Given the description of an element on the screen output the (x, y) to click on. 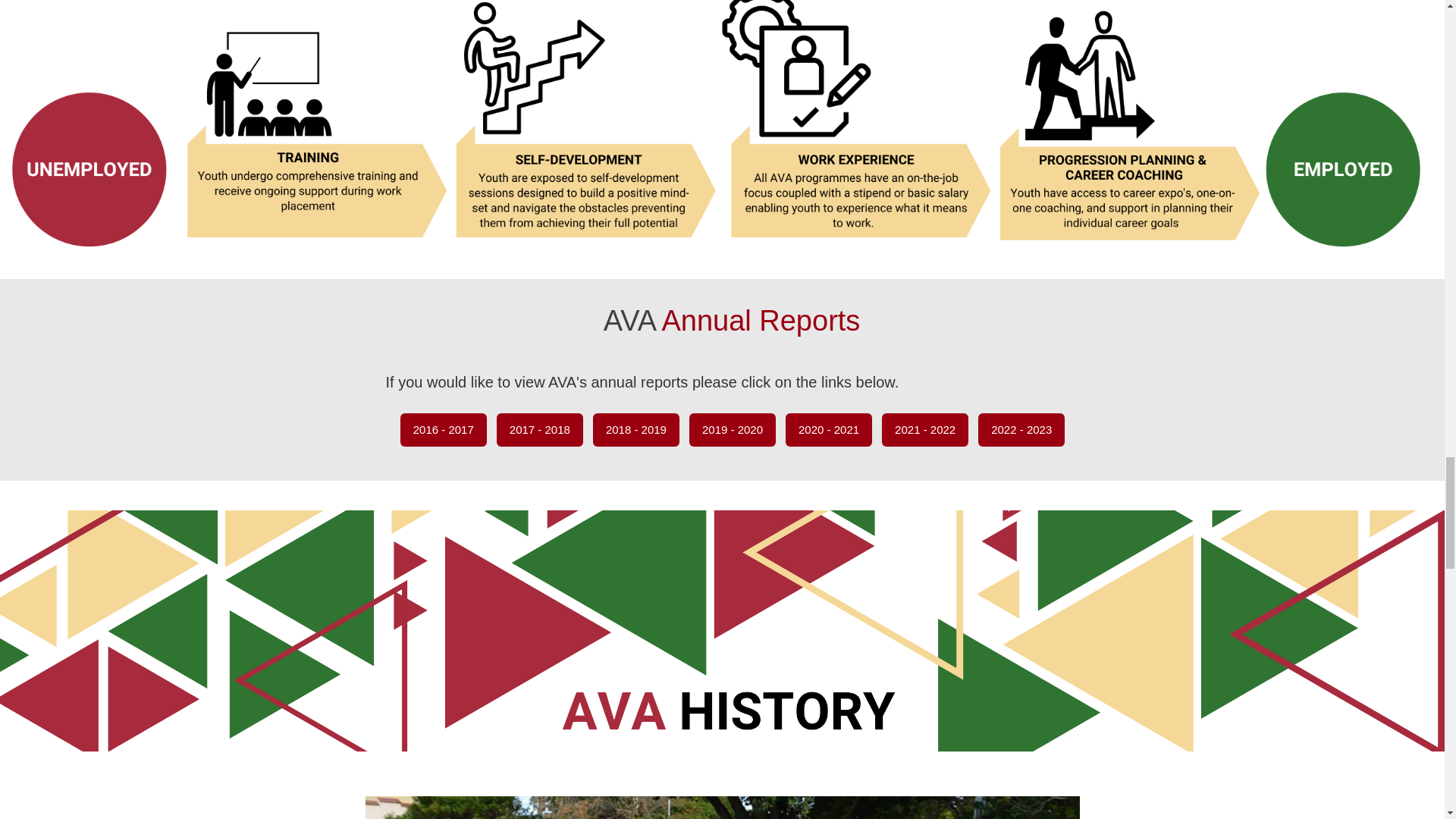
2022 - 2023 (1021, 429)
2017 - 2018 (539, 429)
2019 - 2020 (732, 429)
2016 - 2017 (443, 429)
2021 - 2022 (925, 429)
2020 - 2021 (829, 429)
2018 - 2019 (635, 429)
